Given the description of an element on the screen output the (x, y) to click on. 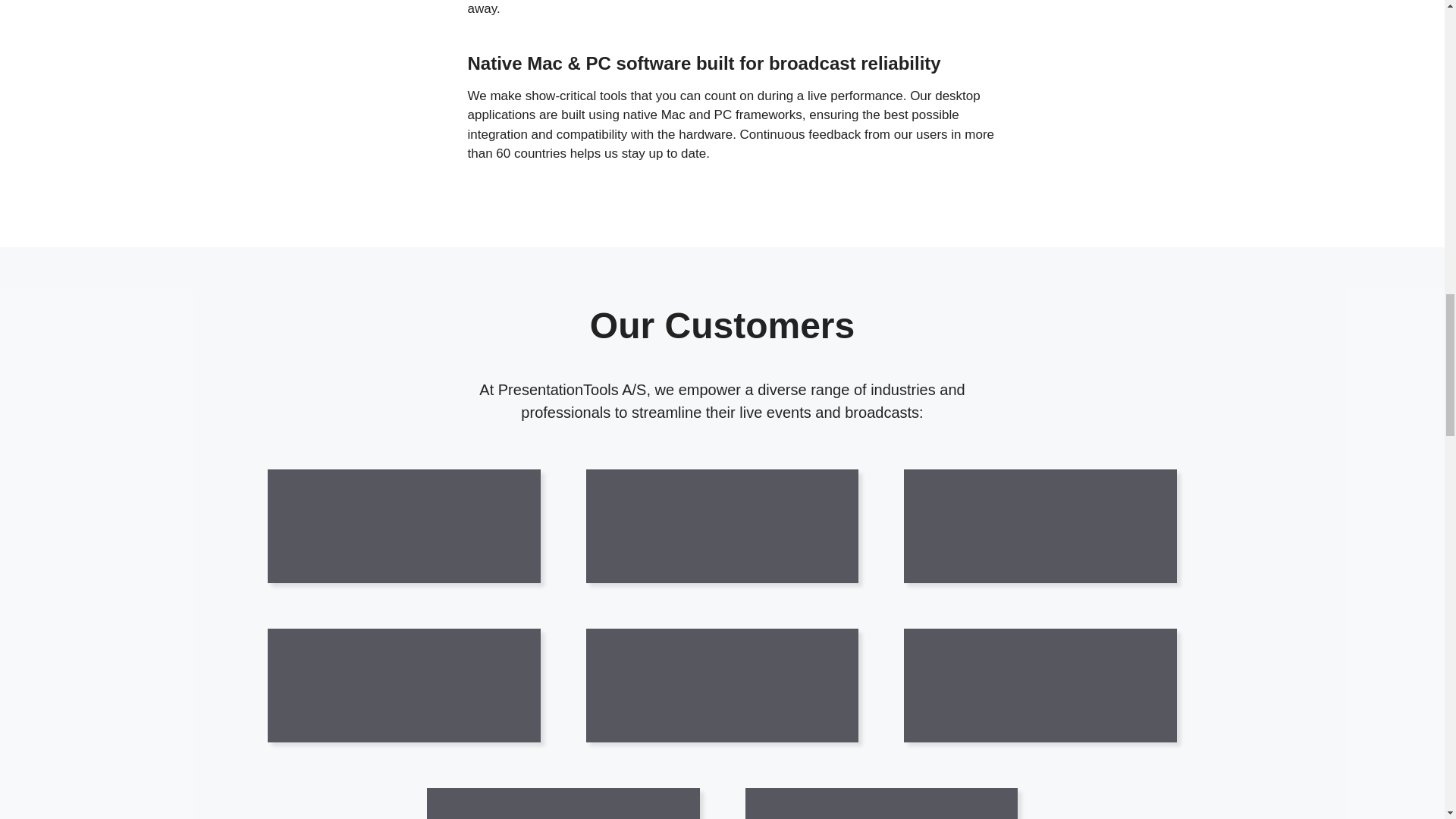
Event Companies (1017, 526)
Educational Institutions (699, 685)
Convention Centers (381, 685)
Event Organisers and Meeting Leader (858, 803)
Religious Institutions (1017, 685)
Broadcasting Companies (699, 526)
